Given the description of an element on the screen output the (x, y) to click on. 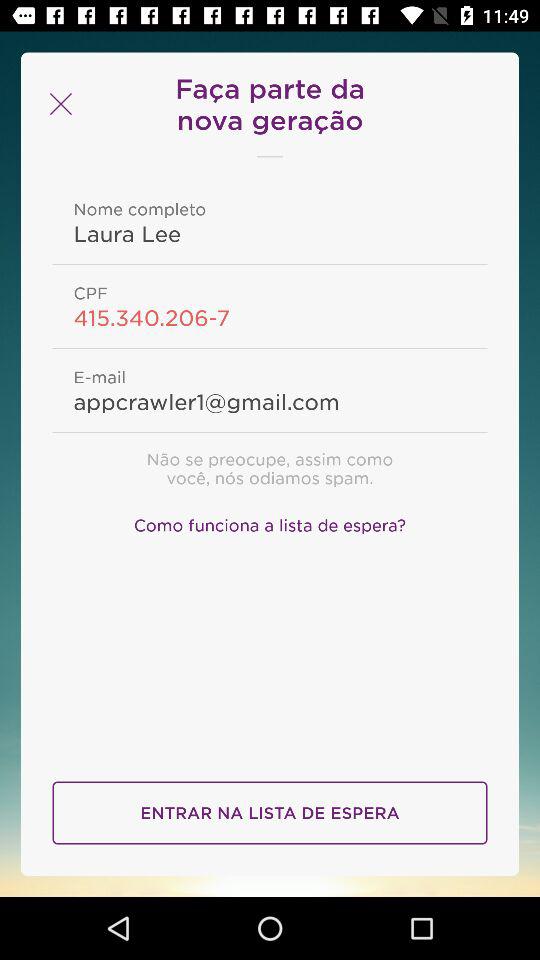
choose the item below cpf item (269, 317)
